Given the description of an element on the screen output the (x, y) to click on. 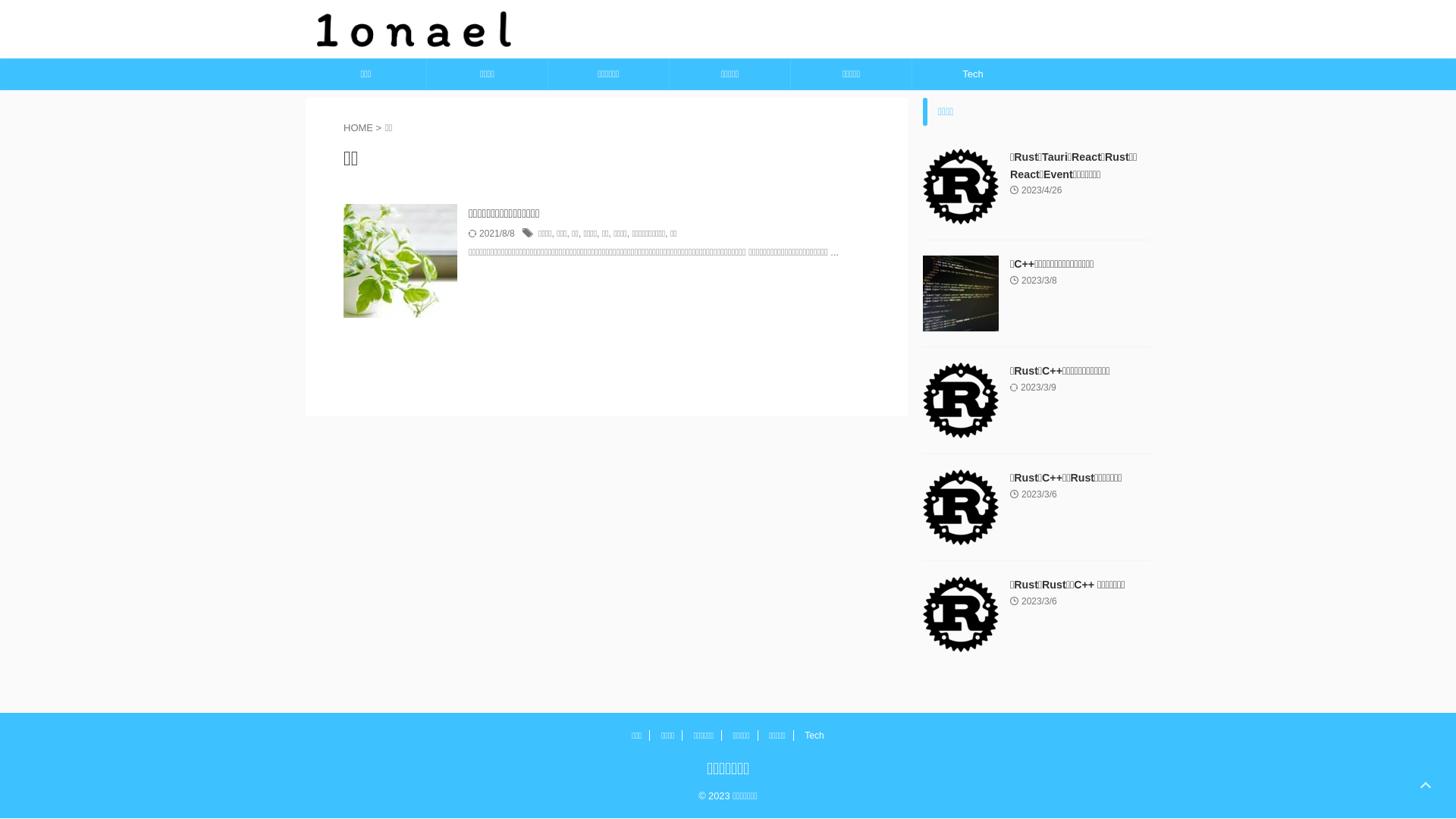
Tech Element type: text (813, 735)
Tech Element type: text (972, 74)
HOME Element type: text (358, 127)
